Given the description of an element on the screen output the (x, y) to click on. 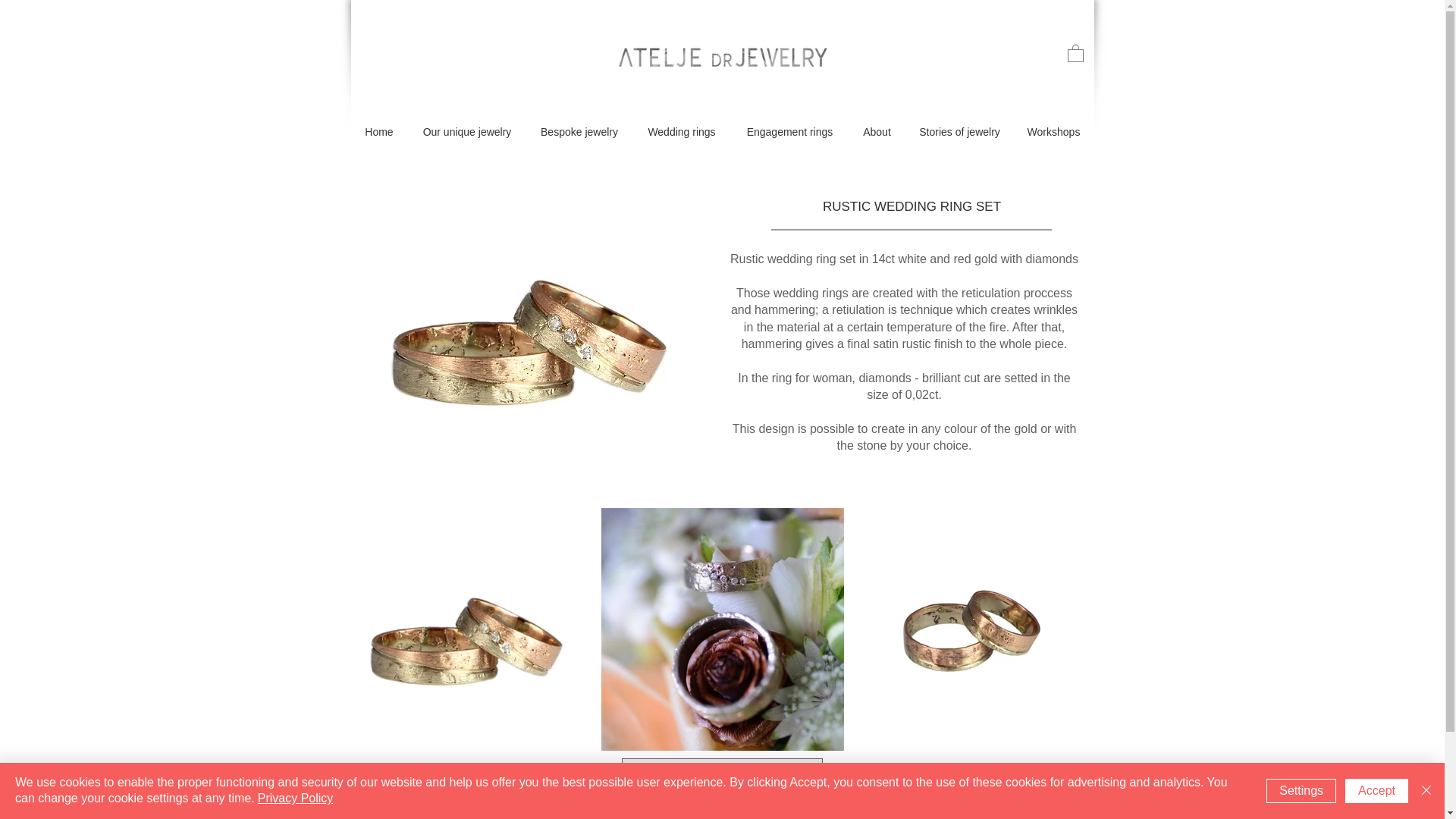
Bespoke jewelry (578, 131)
Engagement rings (788, 131)
Privacy Policy (295, 797)
About (876, 131)
Settings (1301, 790)
Home (378, 131)
Stories of jewelry (959, 131)
Back to wedding rings collection (721, 773)
Wedding rings (681, 131)
Workshops (1053, 131)
Accept (1376, 790)
